Given the description of an element on the screen output the (x, y) to click on. 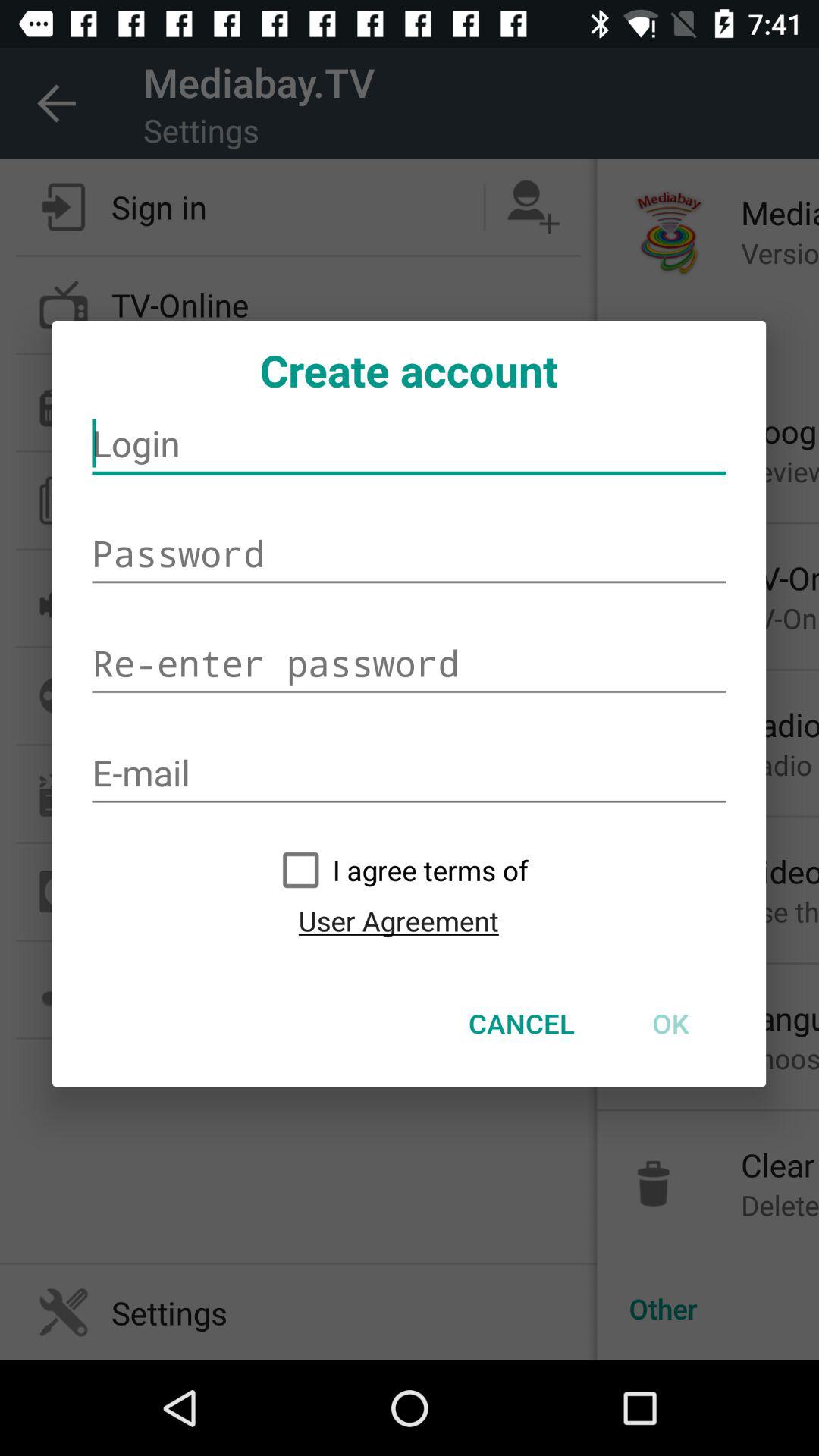
click the item to the left of the ok icon (521, 1022)
